Given the description of an element on the screen output the (x, y) to click on. 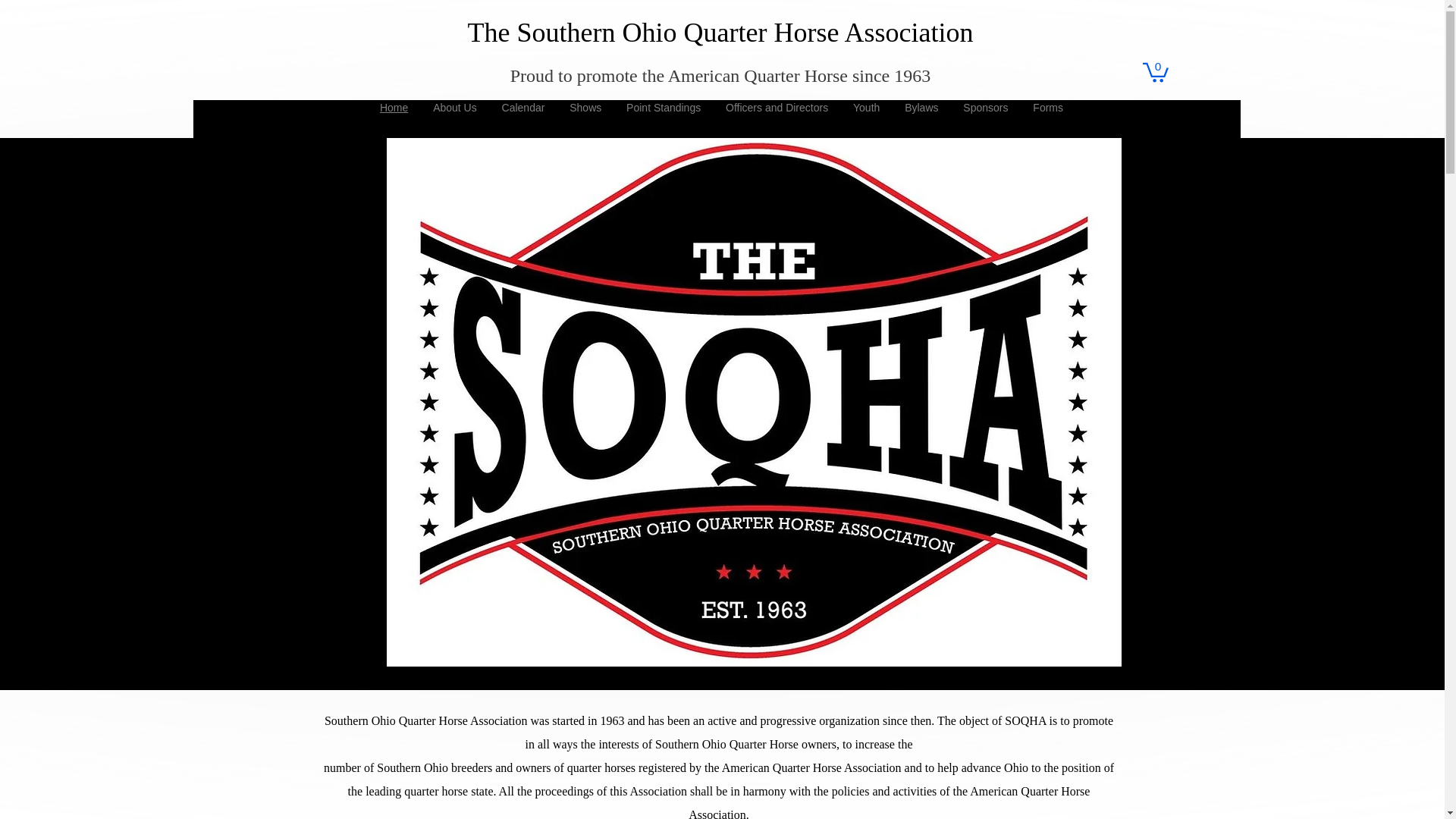
Youth (866, 107)
Shows (585, 107)
Home (393, 107)
Forms (1047, 107)
Sponsors (985, 107)
Officers and Directors (777, 107)
Point Standings (663, 107)
0 (1154, 71)
Bylaws (921, 107)
Calendar (523, 107)
About Us (454, 107)
0 (1154, 71)
